Given the description of an element on the screen output the (x, y) to click on. 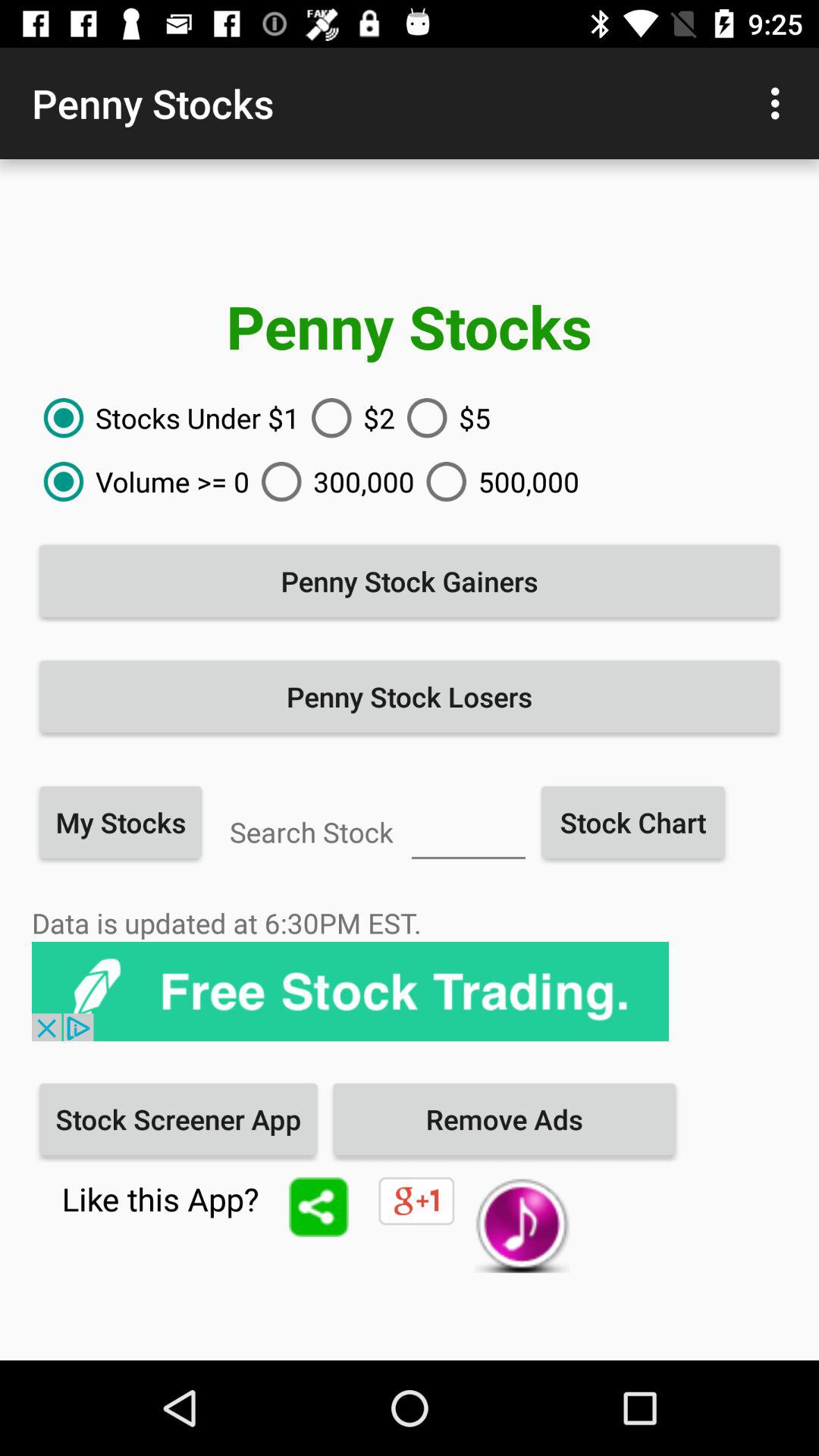
advertisements (349, 991)
